Given the description of an element on the screen output the (x, y) to click on. 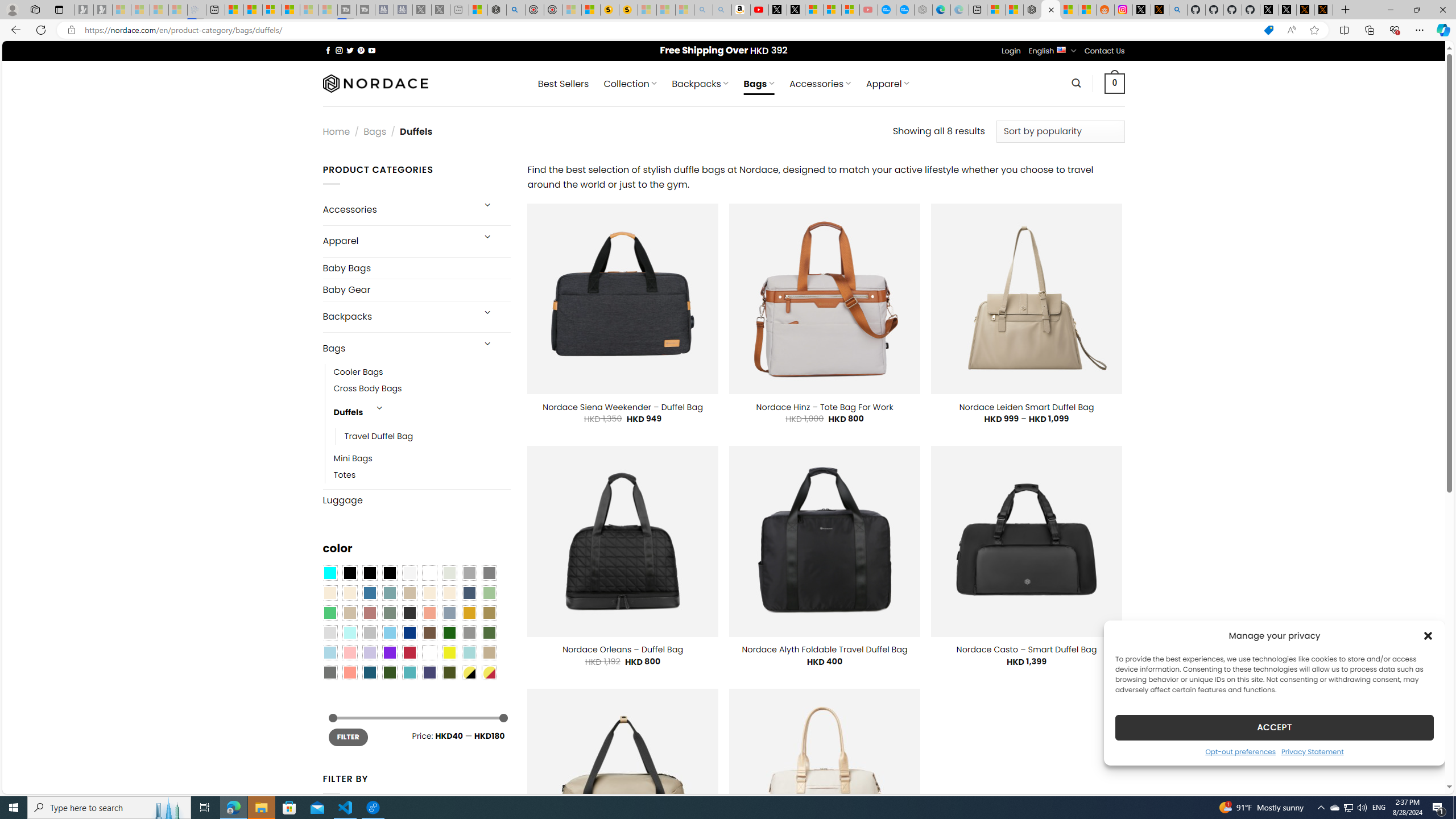
Gray (468, 632)
Green (488, 632)
Sky Blue (389, 632)
Coral (429, 613)
Shop order (1060, 131)
Caramel (429, 592)
GitHub (@github) / X (1287, 9)
Cooler Bags (422, 371)
